Given the description of an element on the screen output the (x, y) to click on. 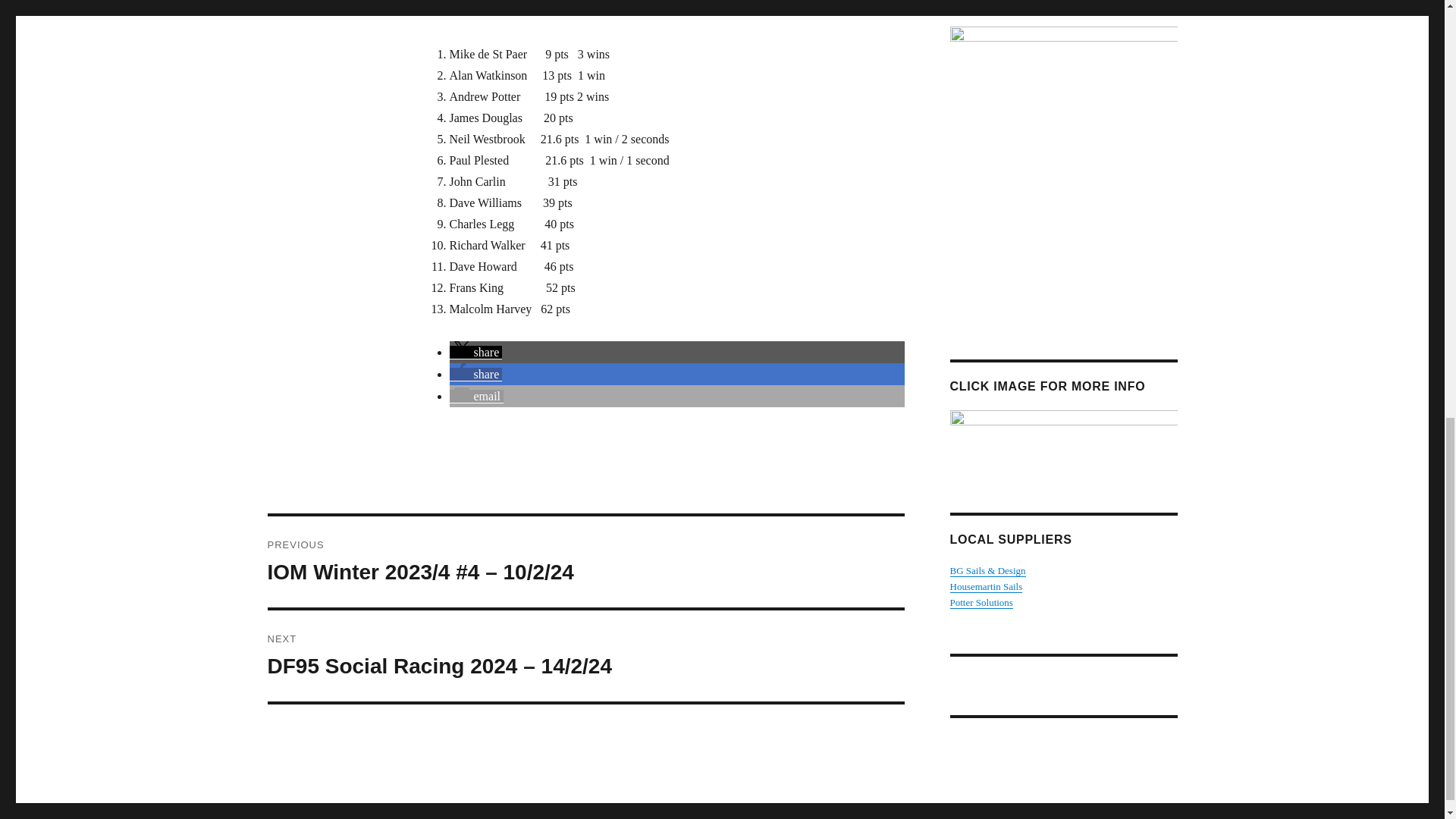
Send by email (475, 395)
Share on X (475, 351)
Share on Facebook (475, 373)
